Given the description of an element on the screen output the (x, y) to click on. 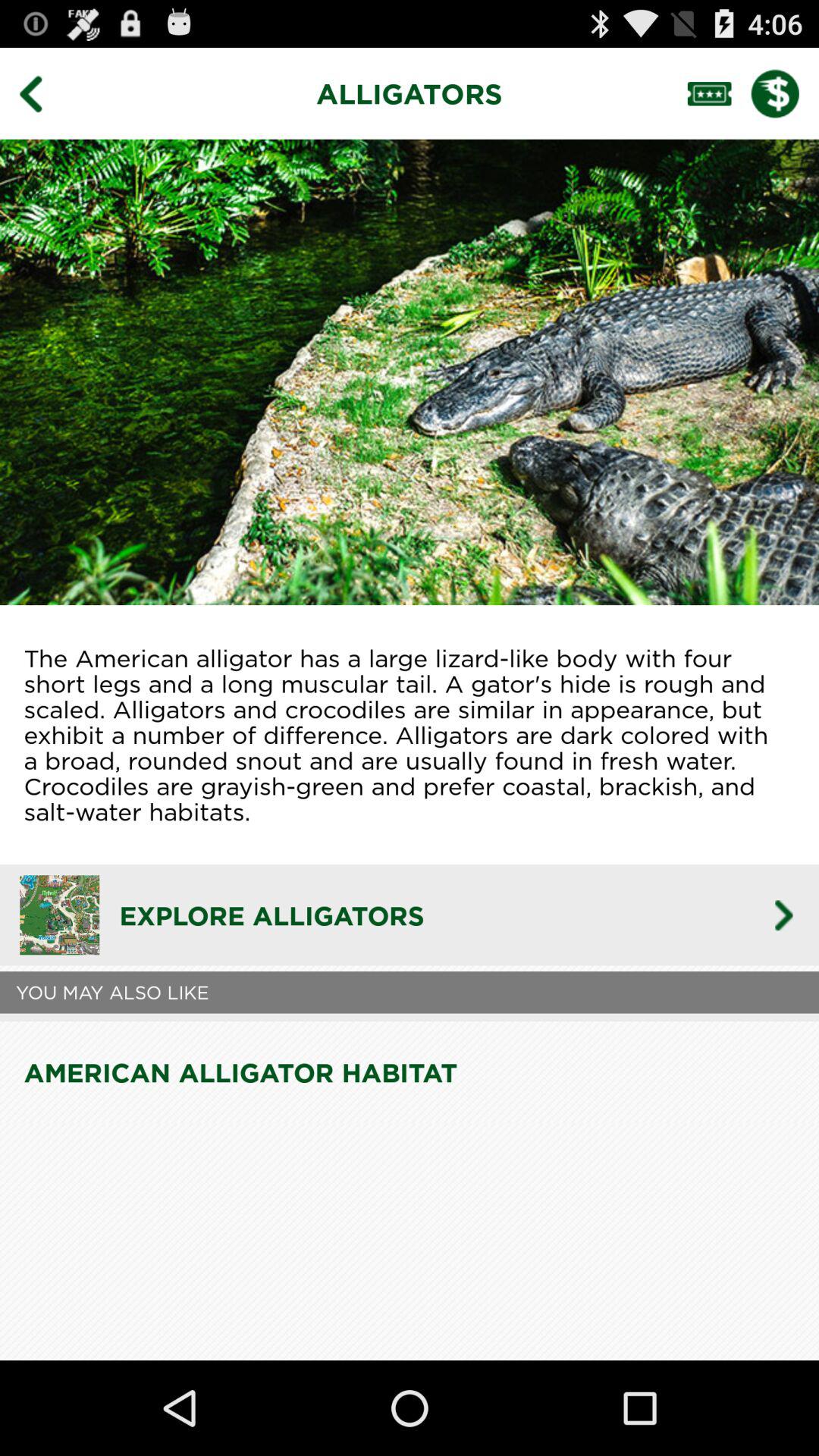
launch the item at the top left corner (41, 93)
